Given the description of an element on the screen output the (x, y) to click on. 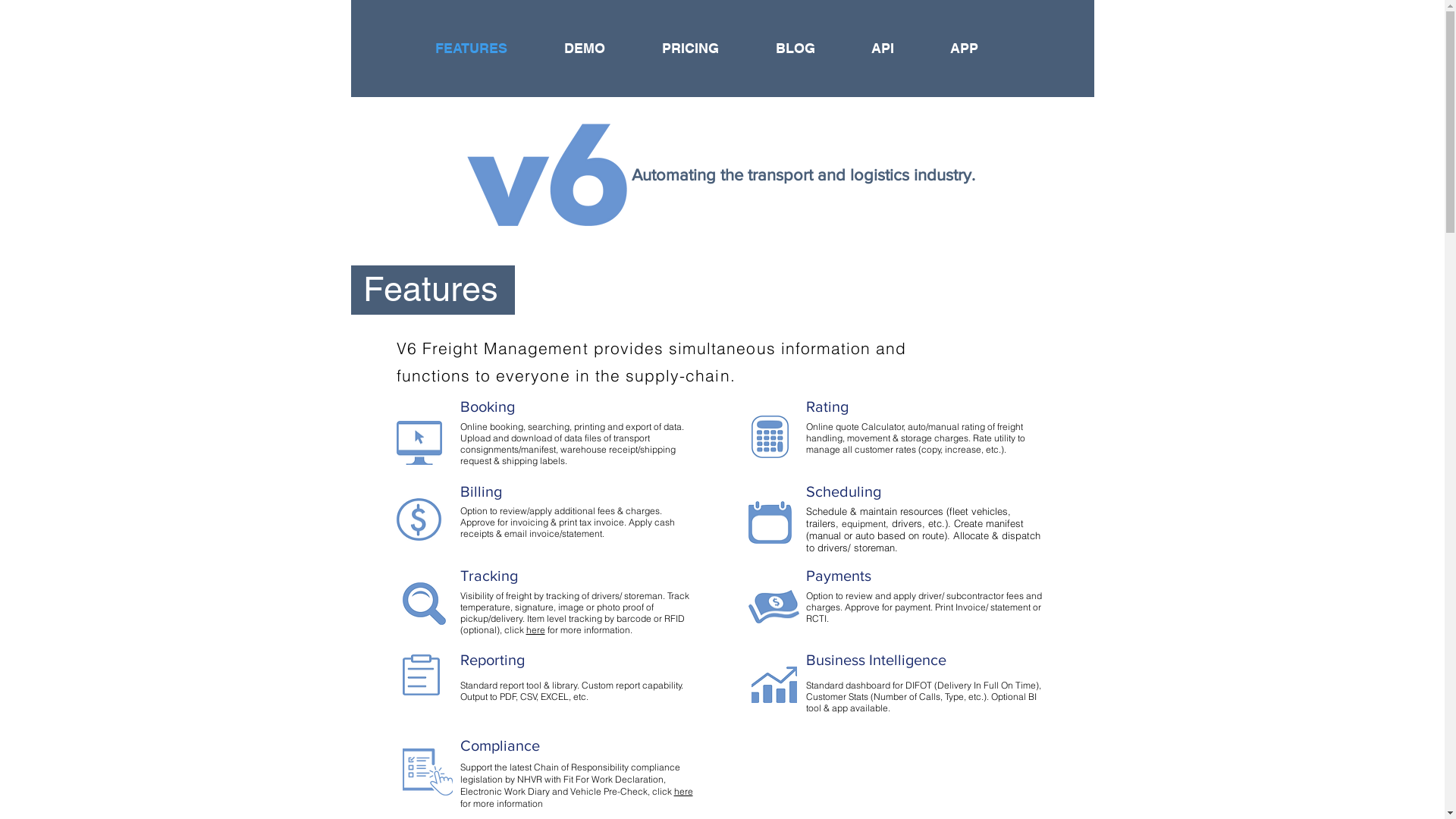
DEMO Element type: text (600, 48)
BLOG Element type: text (811, 48)
API Element type: text (898, 48)
here Element type: text (535, 629)
FEATURES Element type: text (487, 48)
APP Element type: text (980, 48)
here Element type: text (682, 791)
PRICING Element type: text (707, 48)
